Given the description of an element on the screen output the (x, y) to click on. 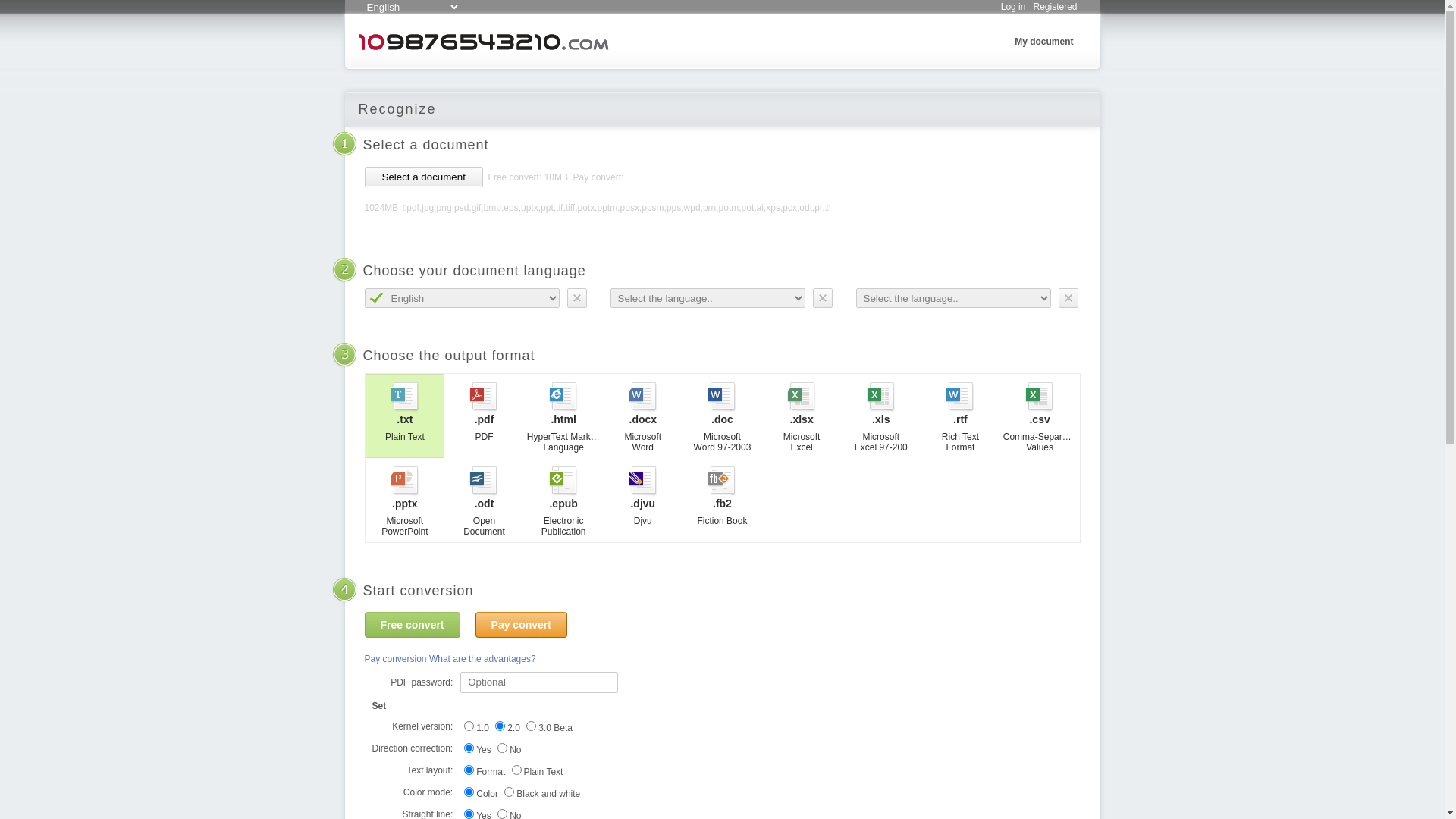
My document Element type: text (1043, 41)
.pptx
Microsoft
PowerPoint Element type: text (405, 500)
.html
HyperText Markup
Language Element type: text (563, 415)
.doc
Microsoft
Word 97-2003 Element type: text (722, 415)
.djvu
Djvu Element type: text (642, 500)
.pdf
PDF Element type: text (484, 415)
.txt
Plain Text Element type: text (405, 415)
.epub
Electronic
Publication Element type: text (563, 500)
Re-upload Element type: text (48, 12)
Log in Element type: text (1013, 6)
Pay conversion What are the advantages? Element type: text (449, 658)
Registered Element type: text (1054, 6)
.rtf
Rich Text
Format Element type: text (960, 415)
.xls
Microsoft
Excel 97-200 Element type: text (880, 415)
.docx
Microsoft
Word Element type: text (642, 415)
.csv
Comma-Separated
Values Element type: text (1039, 415)
.odt
Open
Document Element type: text (484, 500)
.fb2
Fiction Book Element type: text (722, 500)
.xlsx
Microsoft
Excel Element type: text (801, 415)
